Given the description of an element on the screen output the (x, y) to click on. 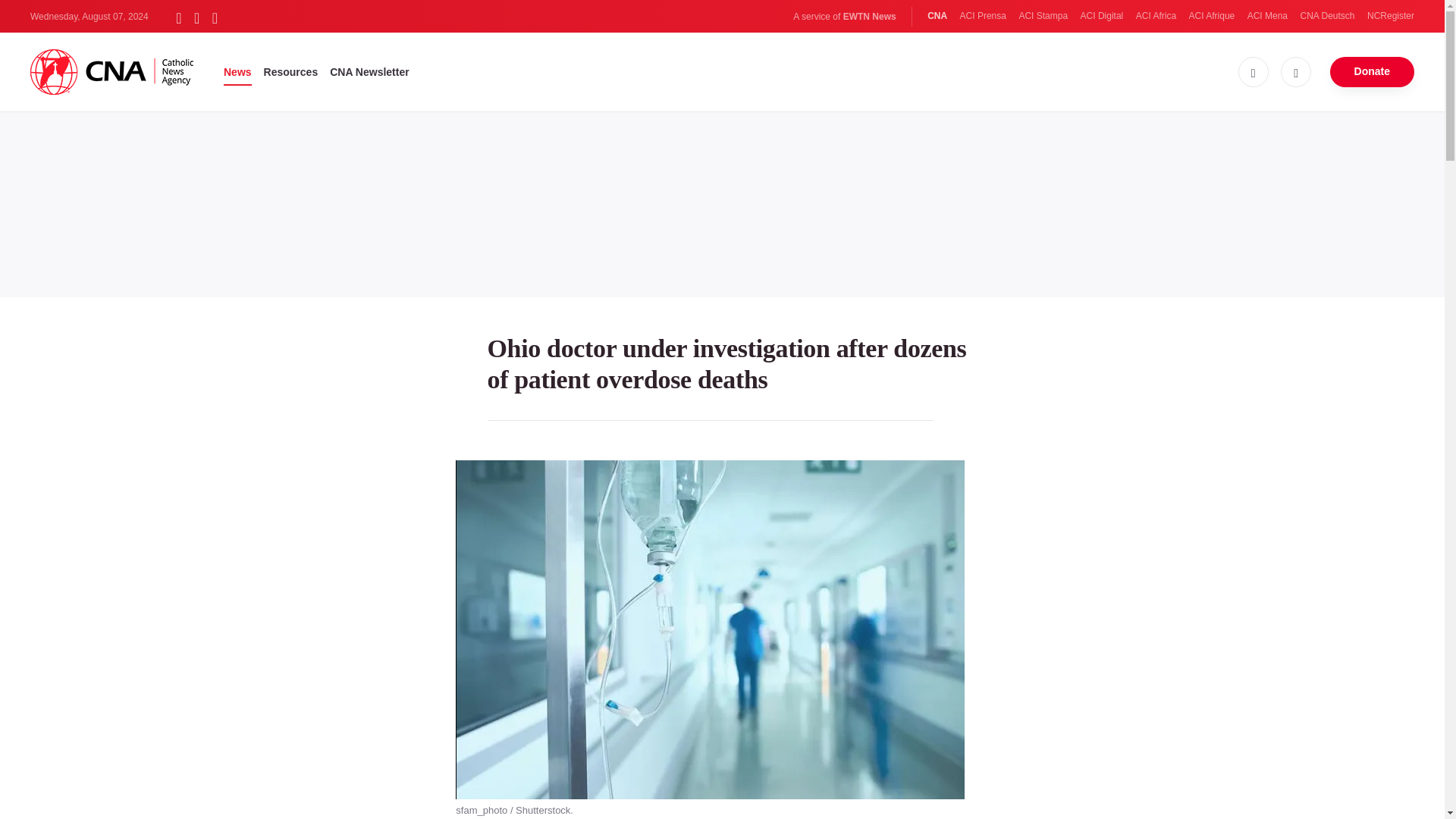
ACI Prensa (982, 16)
ACI Digital (1102, 16)
CNA (937, 16)
ACI Mena (1267, 16)
ACI Afrique (1211, 16)
News (237, 71)
Resources (290, 71)
ACI Stampa (1042, 16)
CNA Deutsch (1327, 16)
EWTN News (869, 16)
